Given the description of an element on the screen output the (x, y) to click on. 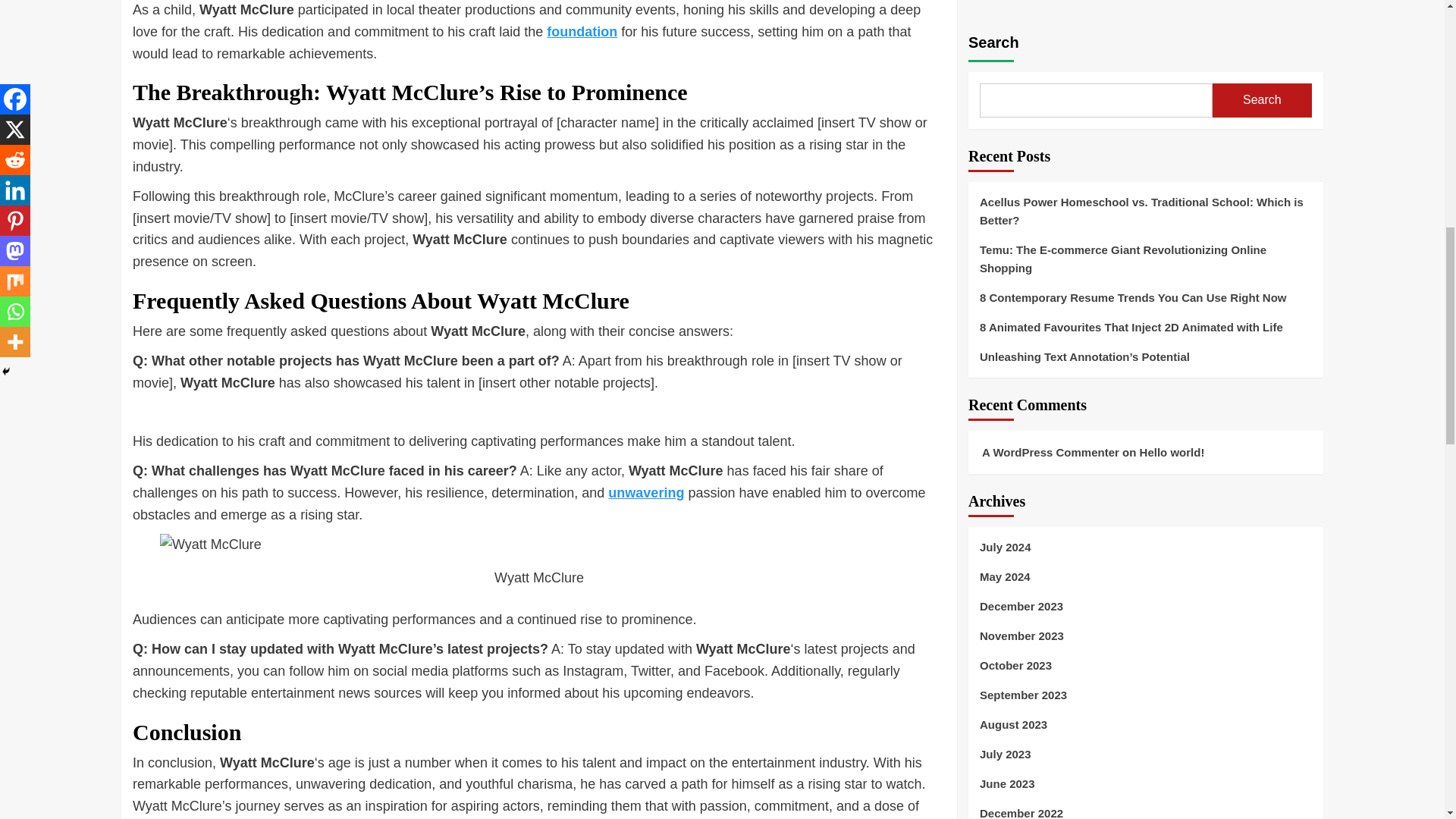
unwavering (646, 492)
foundation (582, 31)
